Given the description of an element on the screen output the (x, y) to click on. 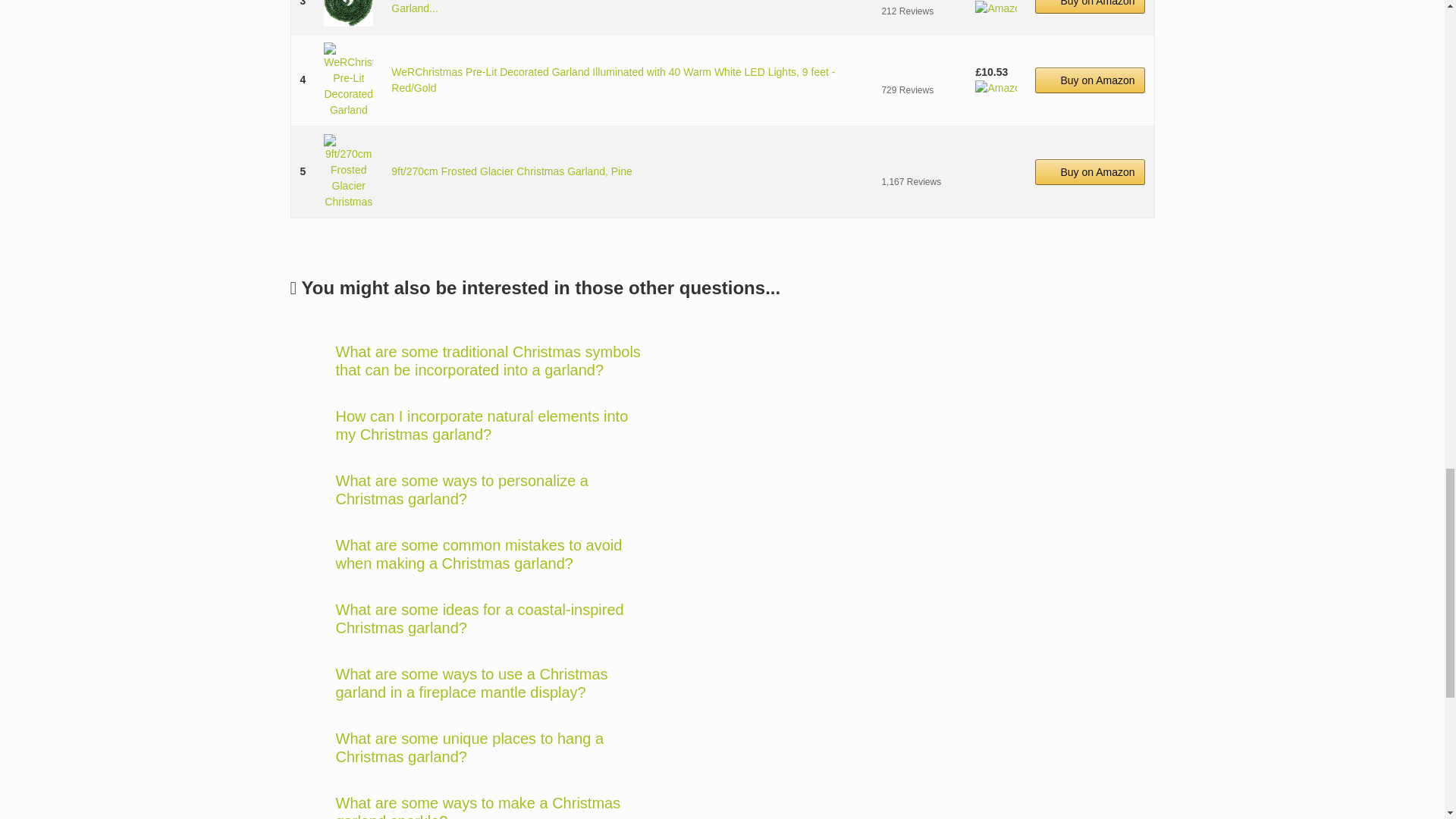
Buy on Amazon (1089, 6)
Reviews on Amazon (918, 71)
Amazon Prime (995, 8)
